Given the description of an element on the screen output the (x, y) to click on. 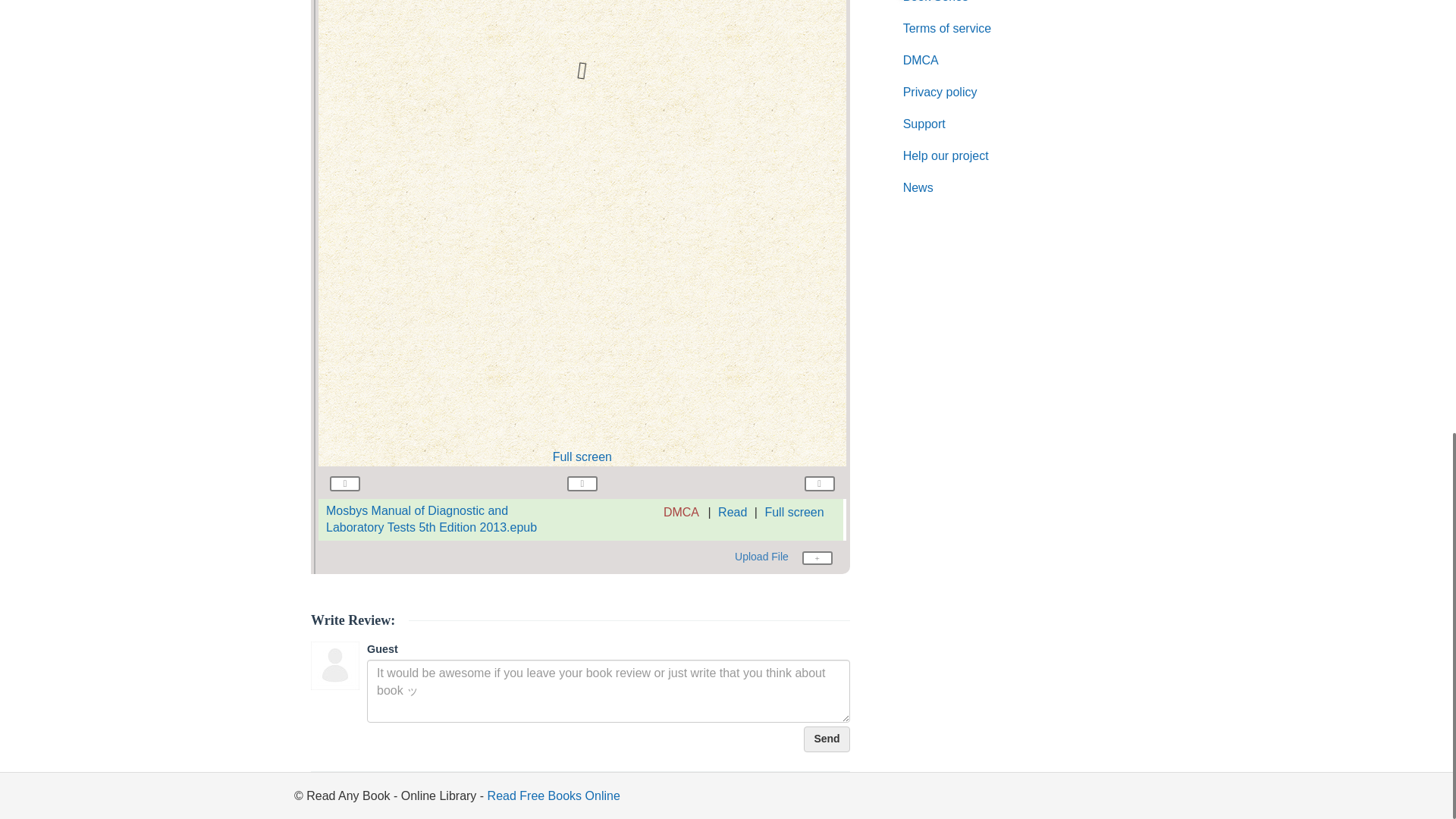
Upload File   (784, 557)
Full screen (582, 456)
Click to read online (431, 519)
Click to read online (731, 512)
Previous page (344, 481)
Read (731, 512)
Full screen (794, 512)
Next page (819, 481)
DMCA (681, 512)
